Given the description of an element on the screen output the (x, y) to click on. 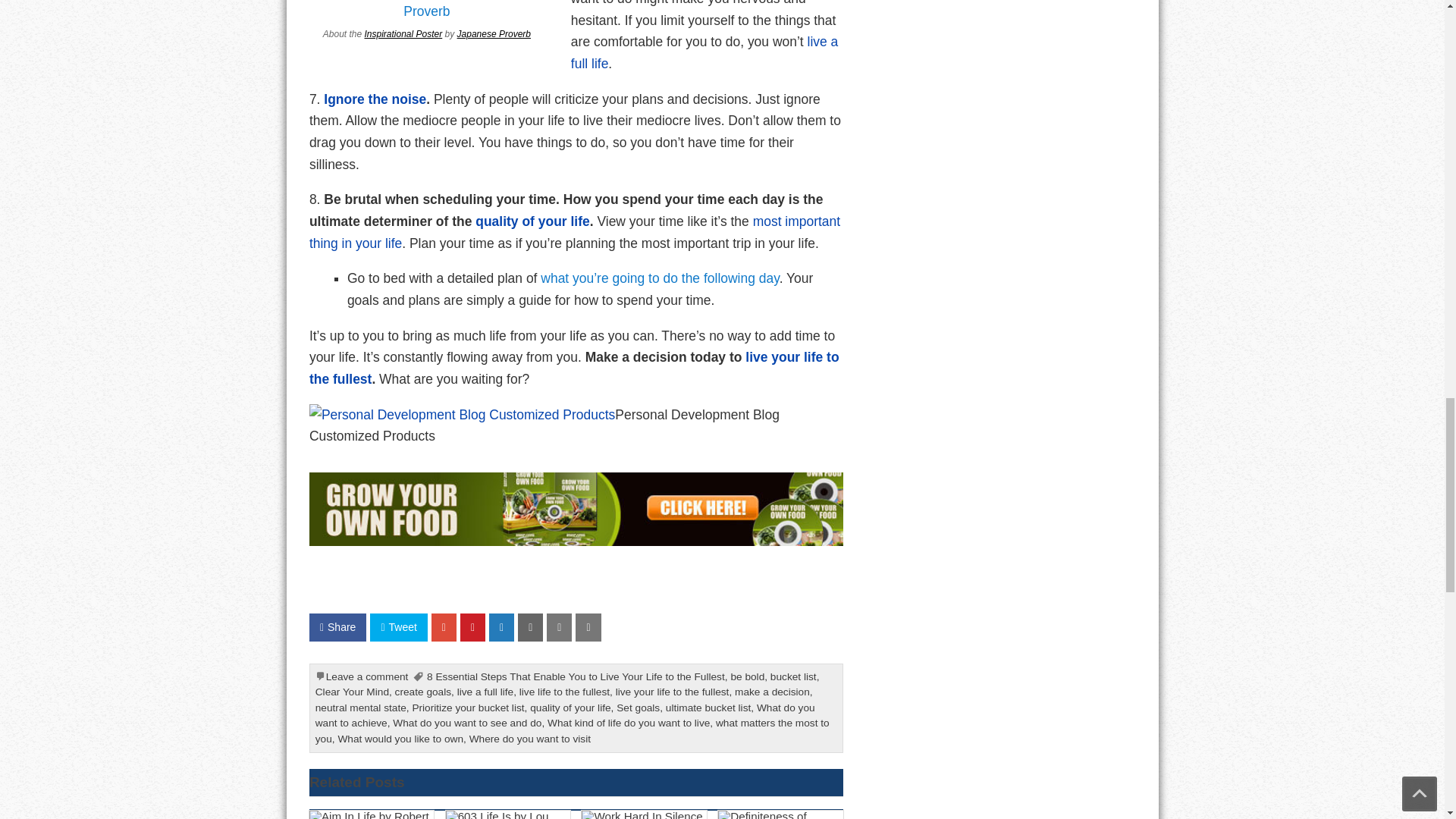
Japanese Proverb Inspirational Quotes (494, 33)
